Given the description of an element on the screen output the (x, y) to click on. 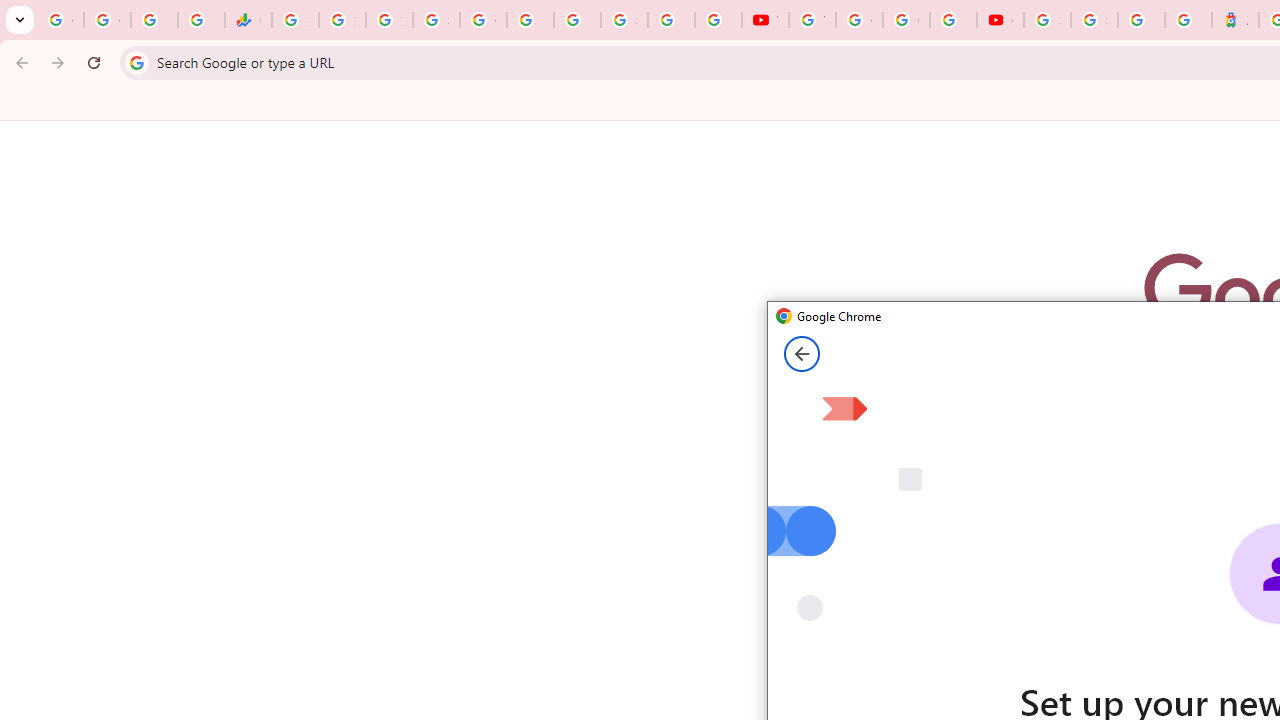
YouTube (811, 20)
Sign in - Google Accounts (623, 20)
Google Workspace Admin Community (60, 20)
Sign in - Google Accounts (436, 20)
Atour Hotel - Google hotels (1235, 20)
YouTube (765, 20)
Google Account Help (859, 20)
Search icon (136, 62)
Create your Google Account (906, 20)
